Given the description of an element on the screen output the (x, y) to click on. 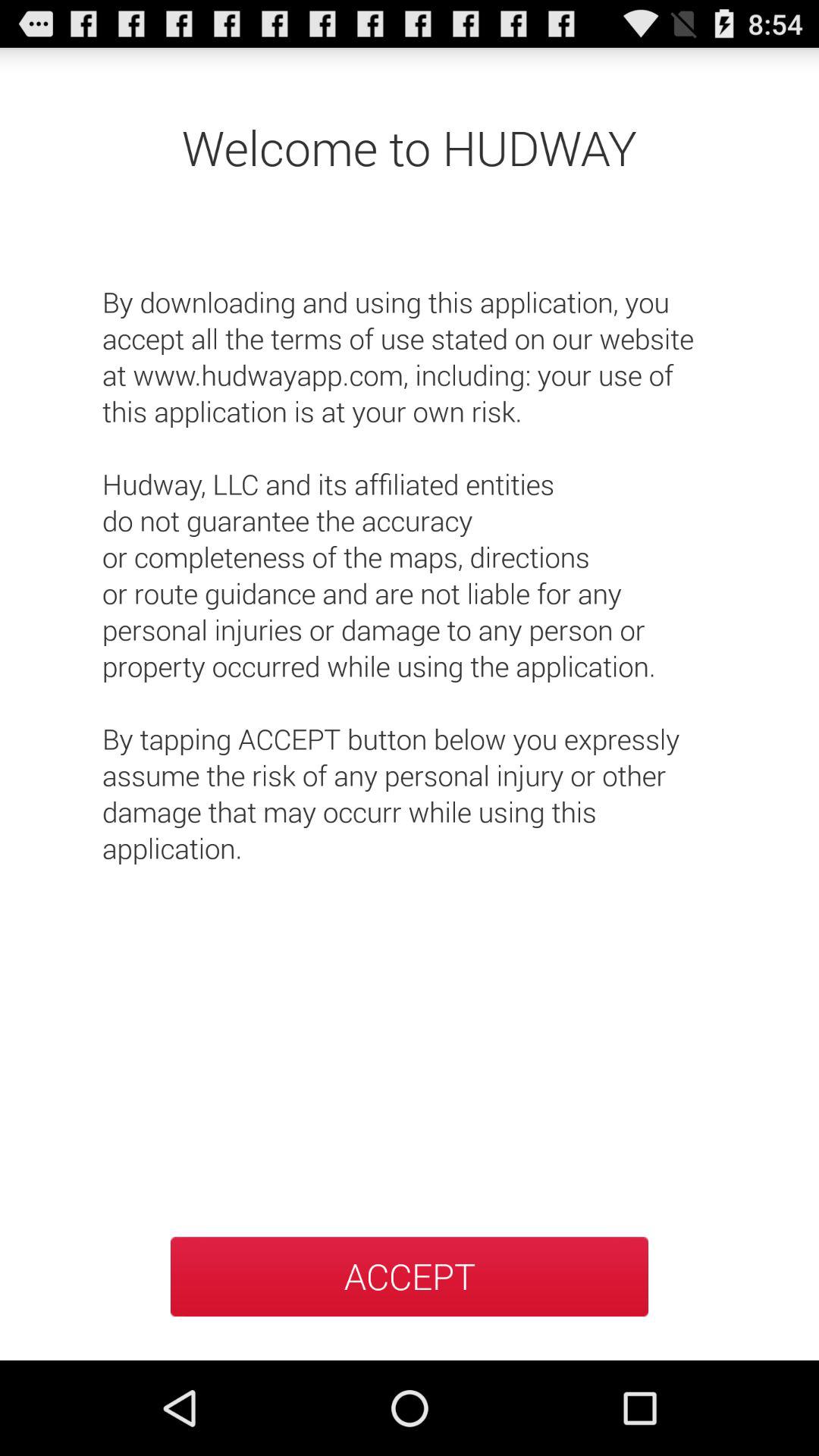
turn on by downloading and icon (409, 556)
